Given the description of an element on the screen output the (x, y) to click on. 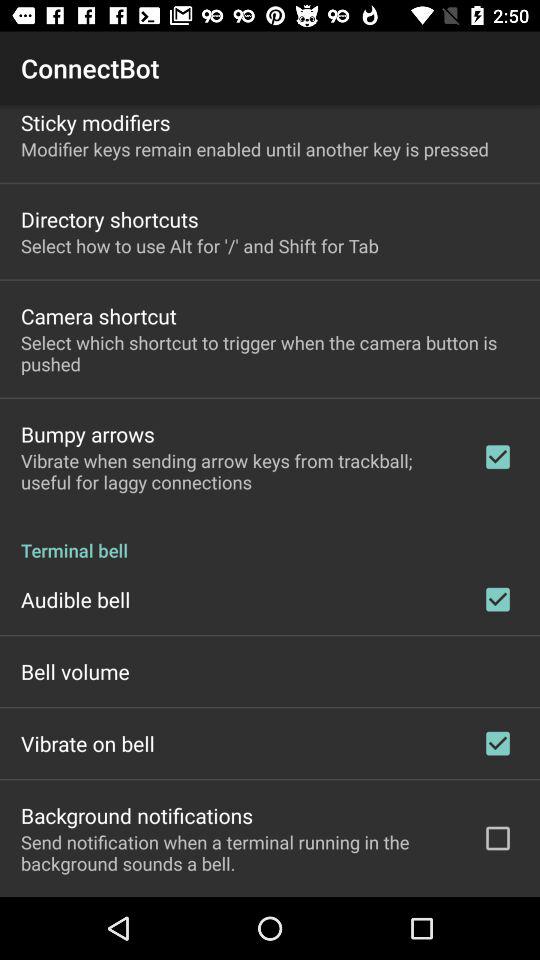
tap the vibrate when sending (238, 471)
